Given the description of an element on the screen output the (x, y) to click on. 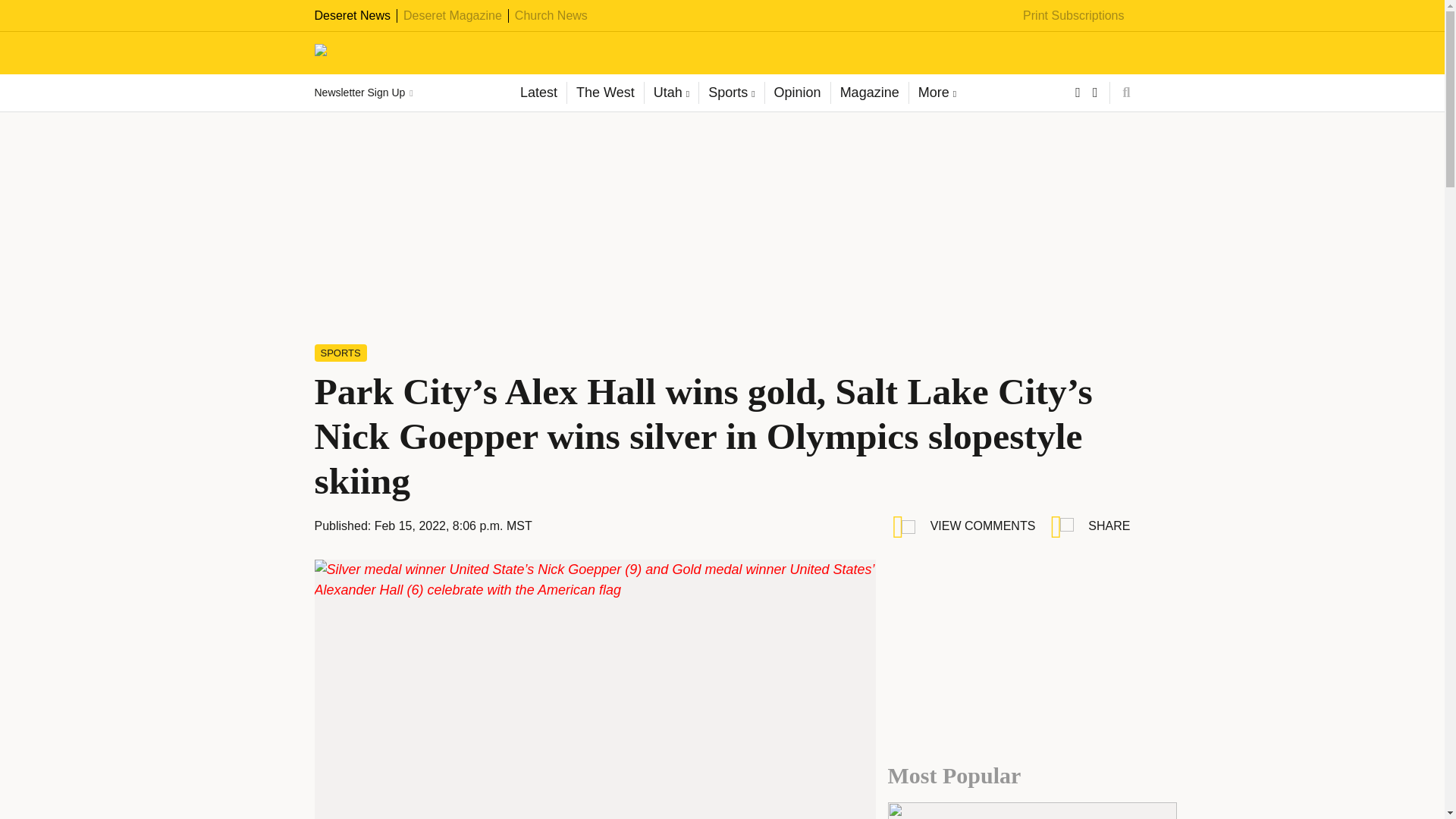
Print Subscriptions (1073, 15)
Newsletter Sign Up (363, 92)
Opinion (796, 92)
Deseret News (352, 15)
Sports (730, 92)
The West (604, 92)
Utah (670, 92)
Deseret Magazine (452, 15)
Magazine (868, 92)
Church News (551, 15)
